Given the description of an element on the screen output the (x, y) to click on. 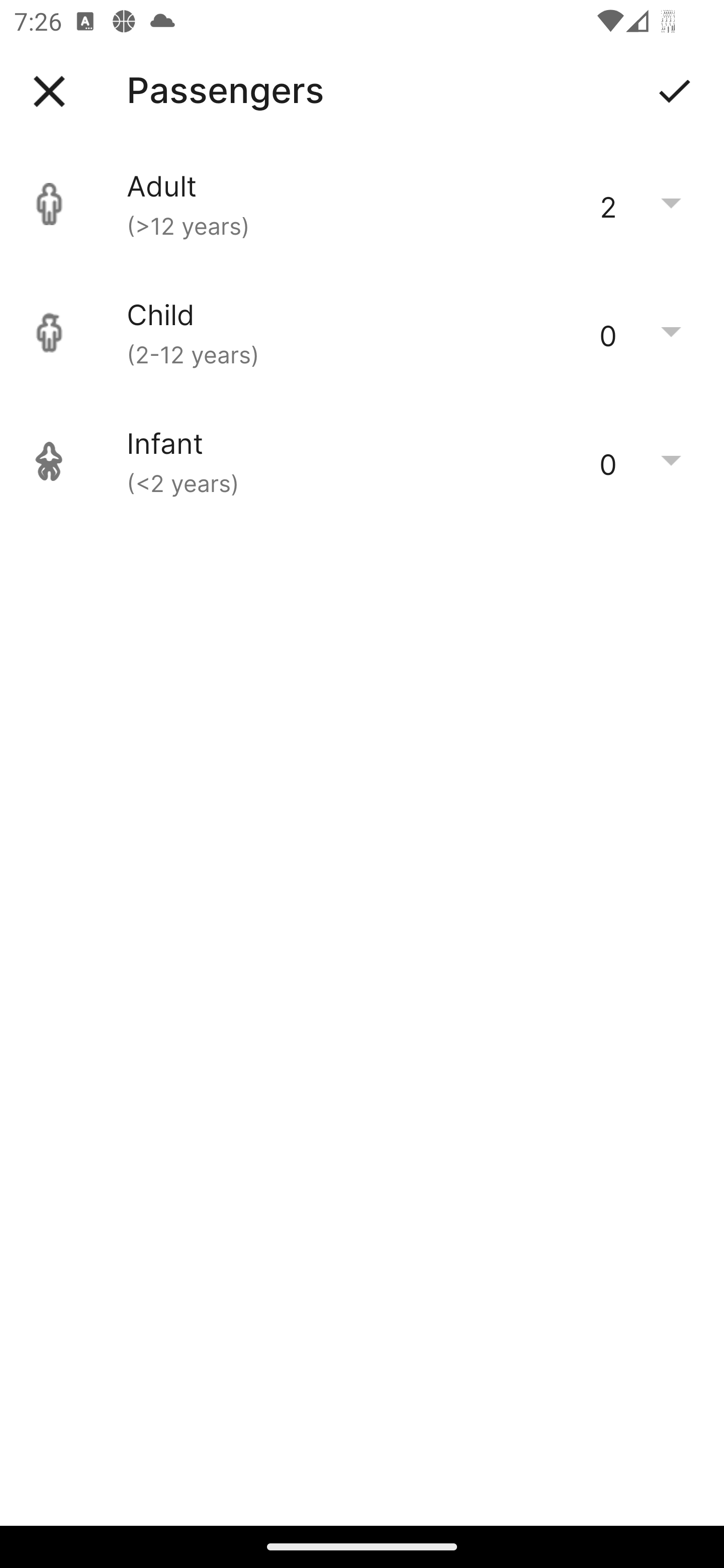
Adult (>12 years) 2 (362, 204)
Child (2-12 years) 0 (362, 332)
Infant (<2 years) 0 (362, 461)
